Given the description of an element on the screen output the (x, y) to click on. 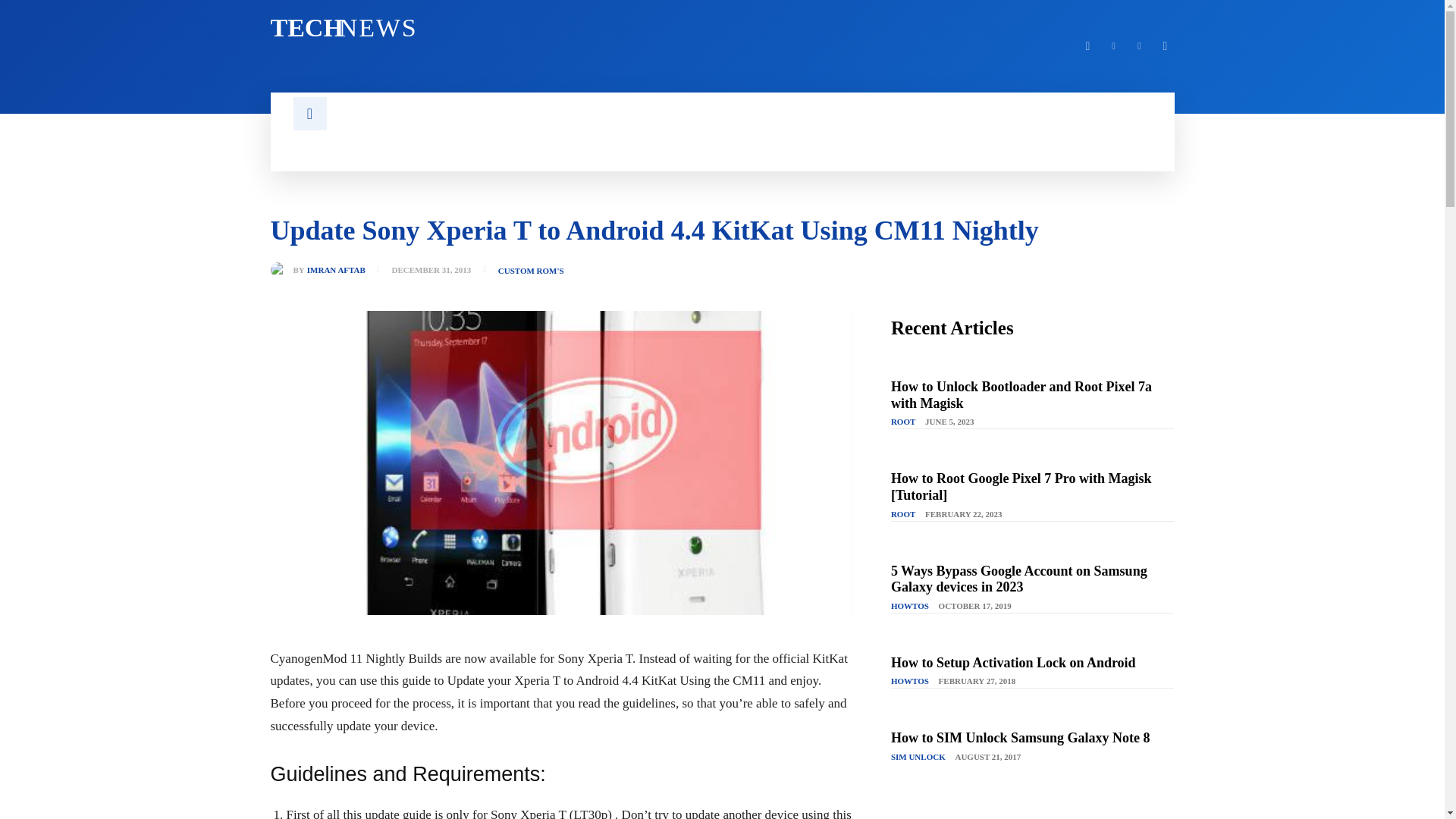
Youtube (1164, 45)
Imran Aftab (280, 269)
How to Unlock Bootloader and Root Pixel 7a with Magisk (1021, 395)
How to SIM Unlock Samsung Galaxy Note 8 (486, 27)
Facebook (1020, 737)
How to Setup Activation Lock on Android (1087, 45)
Linkedin (1013, 662)
Twitter (1112, 45)
